Given the description of an element on the screen output the (x, y) to click on. 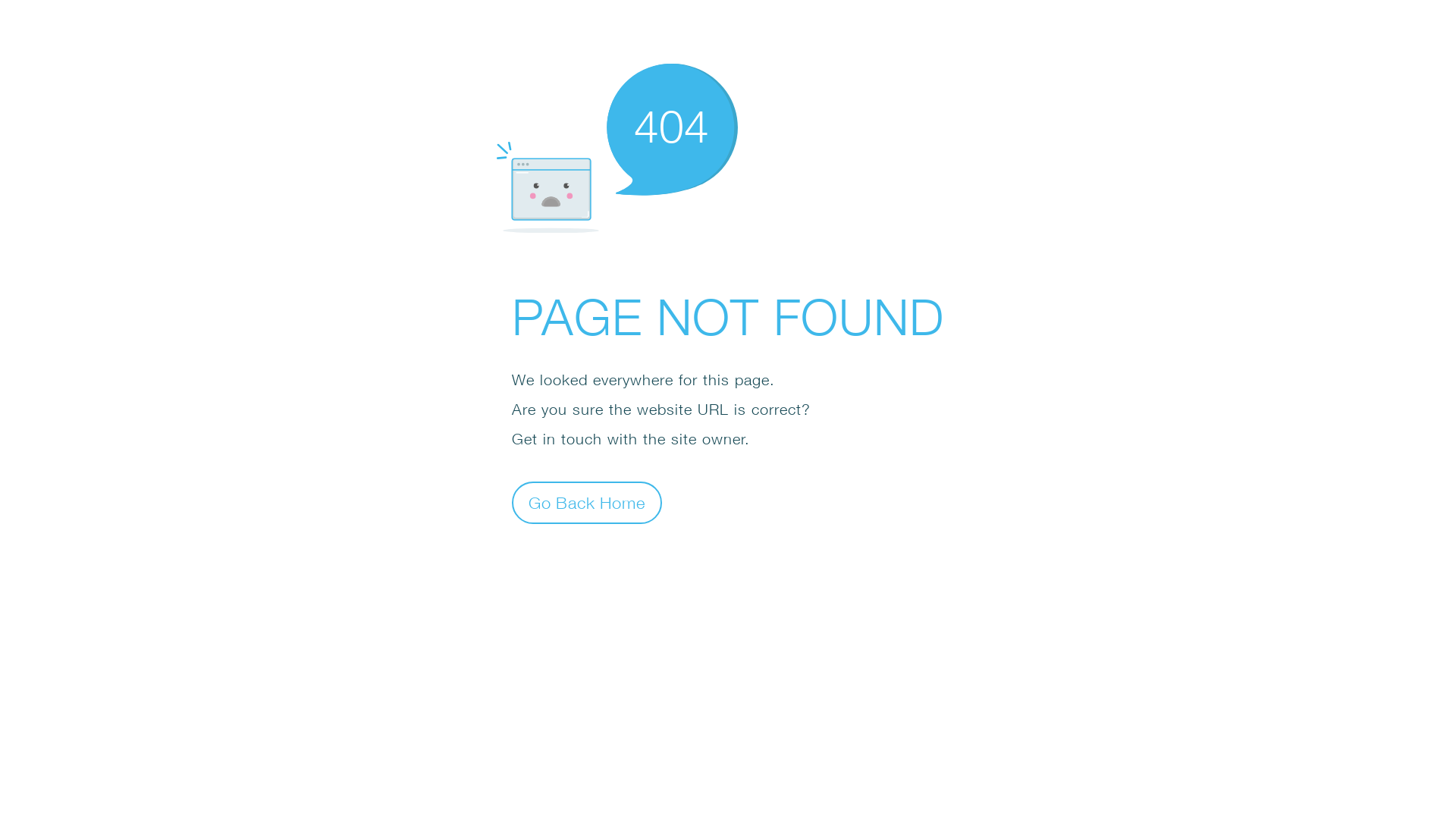
Go Back Home Element type: text (586, 502)
